Given the description of an element on the screen output the (x, y) to click on. 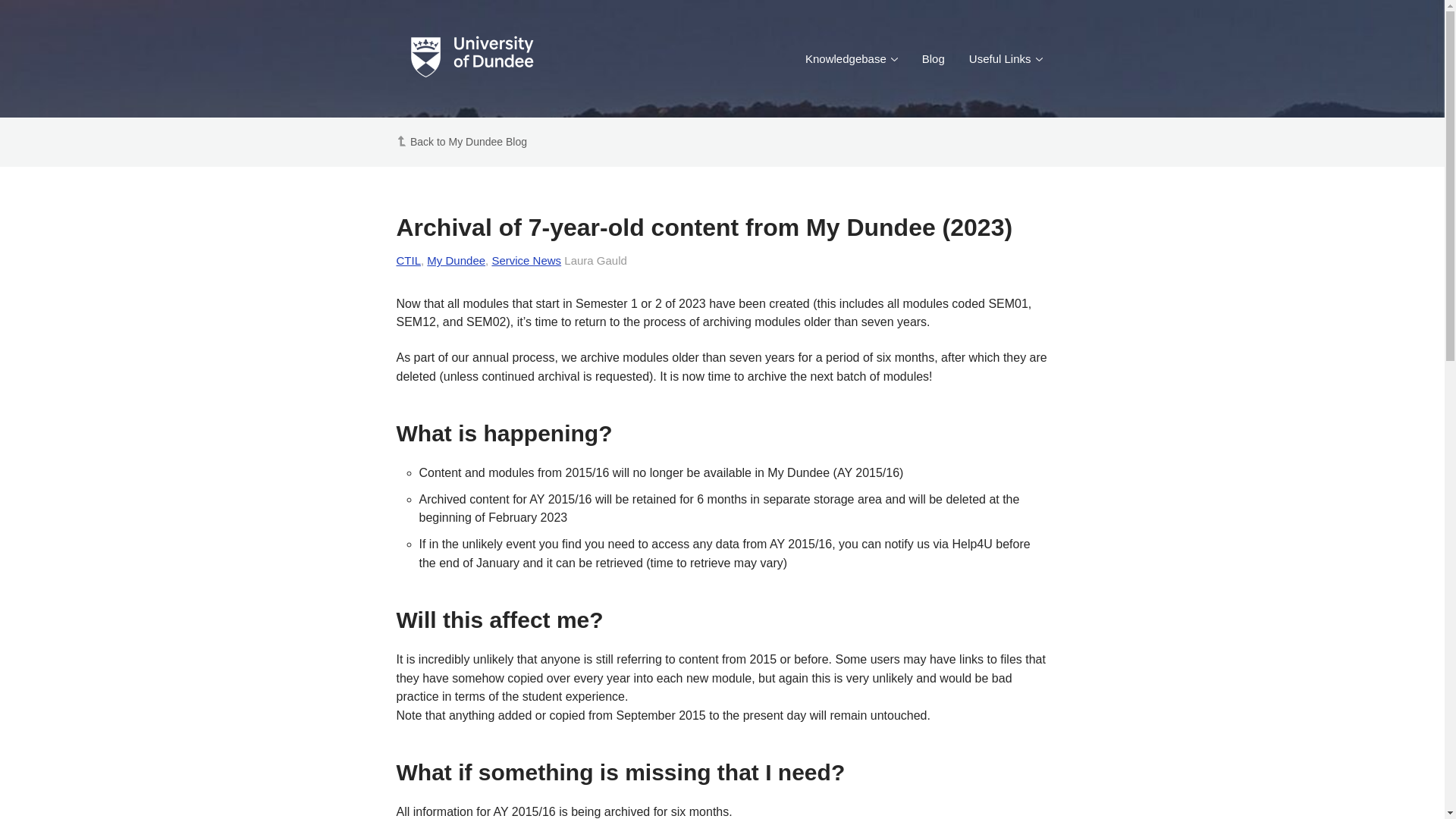
Knowledgebase (851, 58)
CTIL (408, 259)
Back to My Dundee Blog (468, 141)
Service News (526, 259)
Useful Links (1005, 58)
Blog (932, 58)
My Dundee (455, 259)
